Given the description of an element on the screen output the (x, y) to click on. 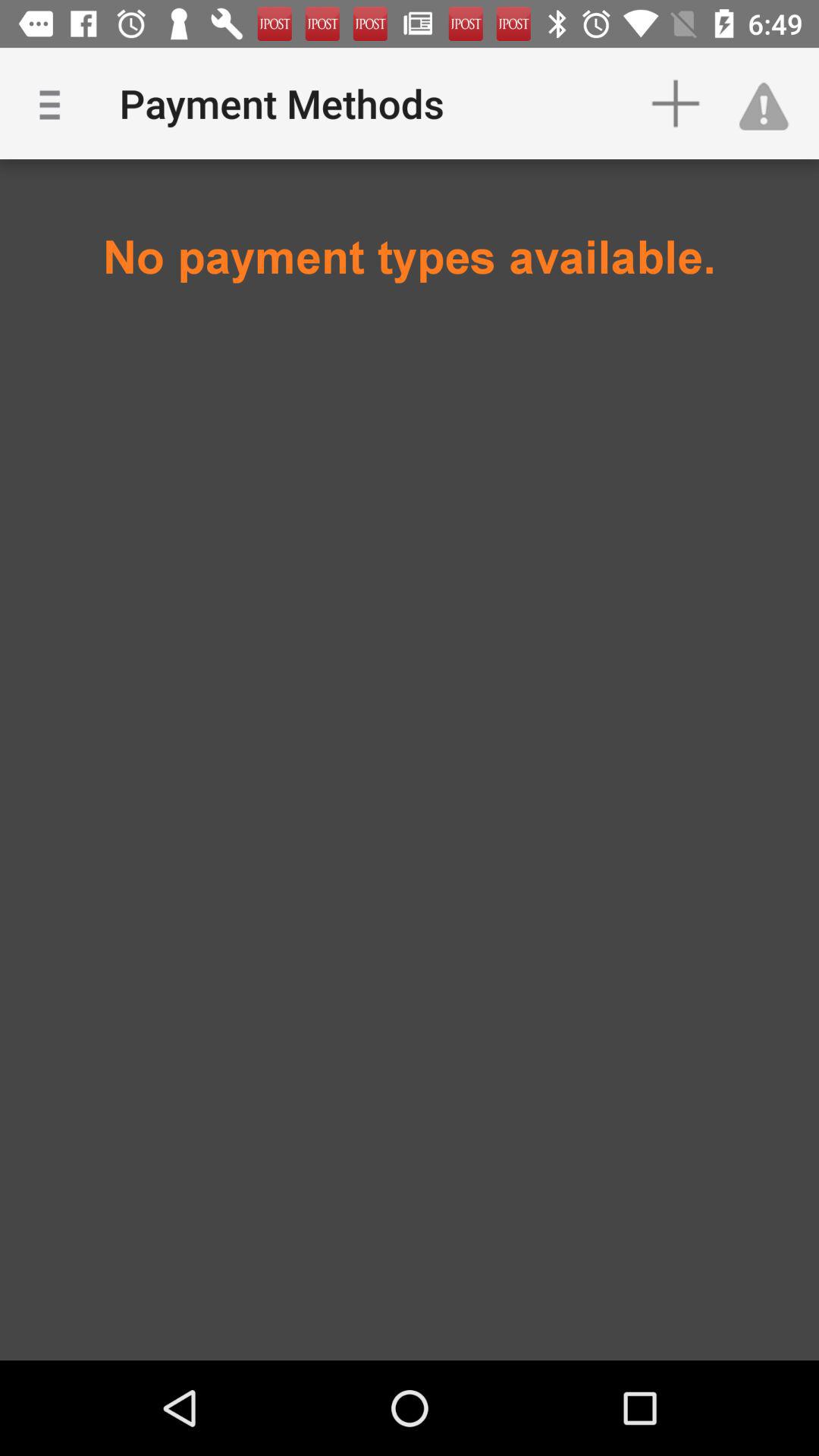
turn off the icon at the top left corner (55, 103)
